Given the description of an element on the screen output the (x, y) to click on. 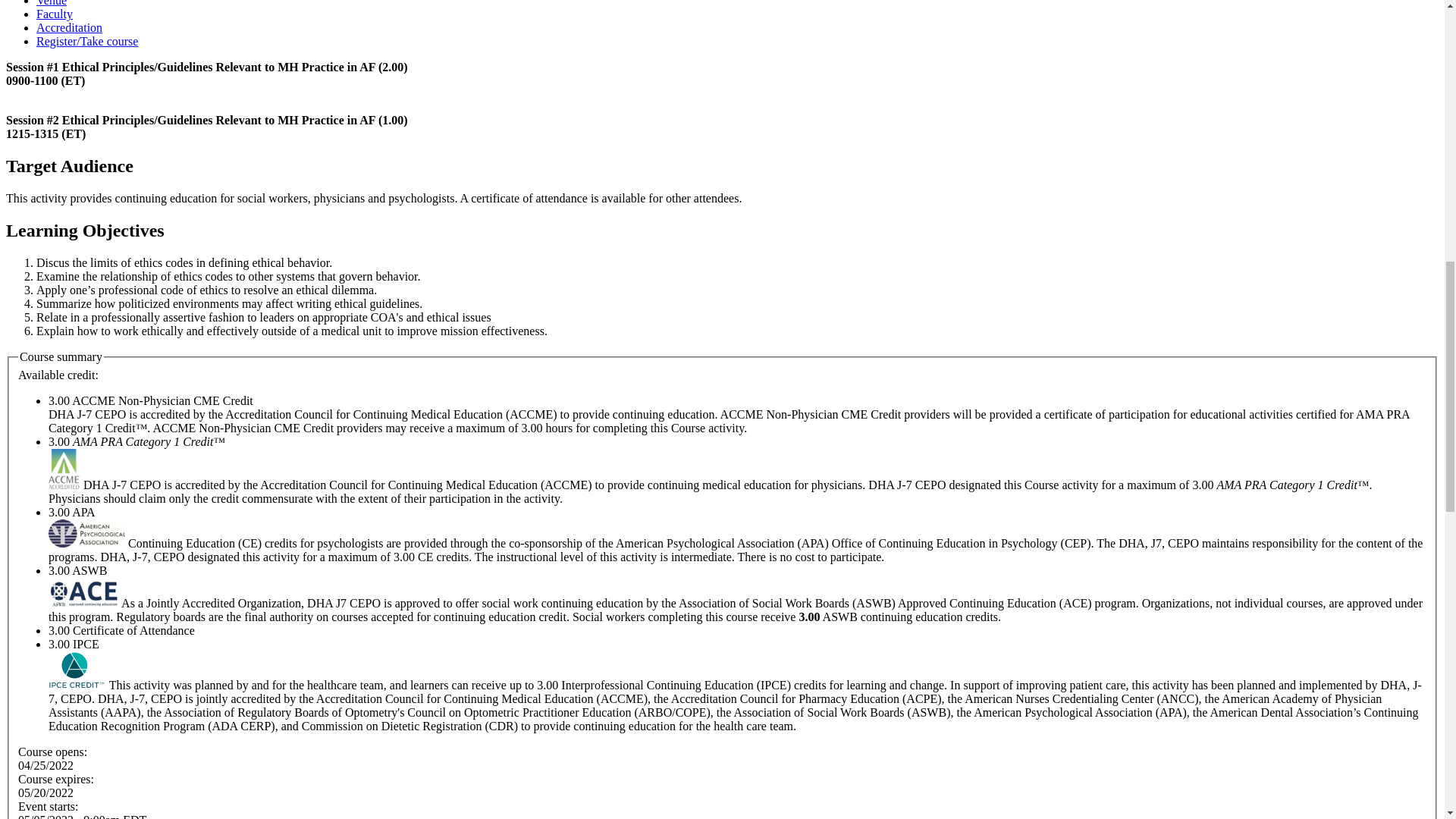
Accreditation (68, 27)
Faculty (54, 13)
Venue (51, 3)
